Given the description of an element on the screen output the (x, y) to click on. 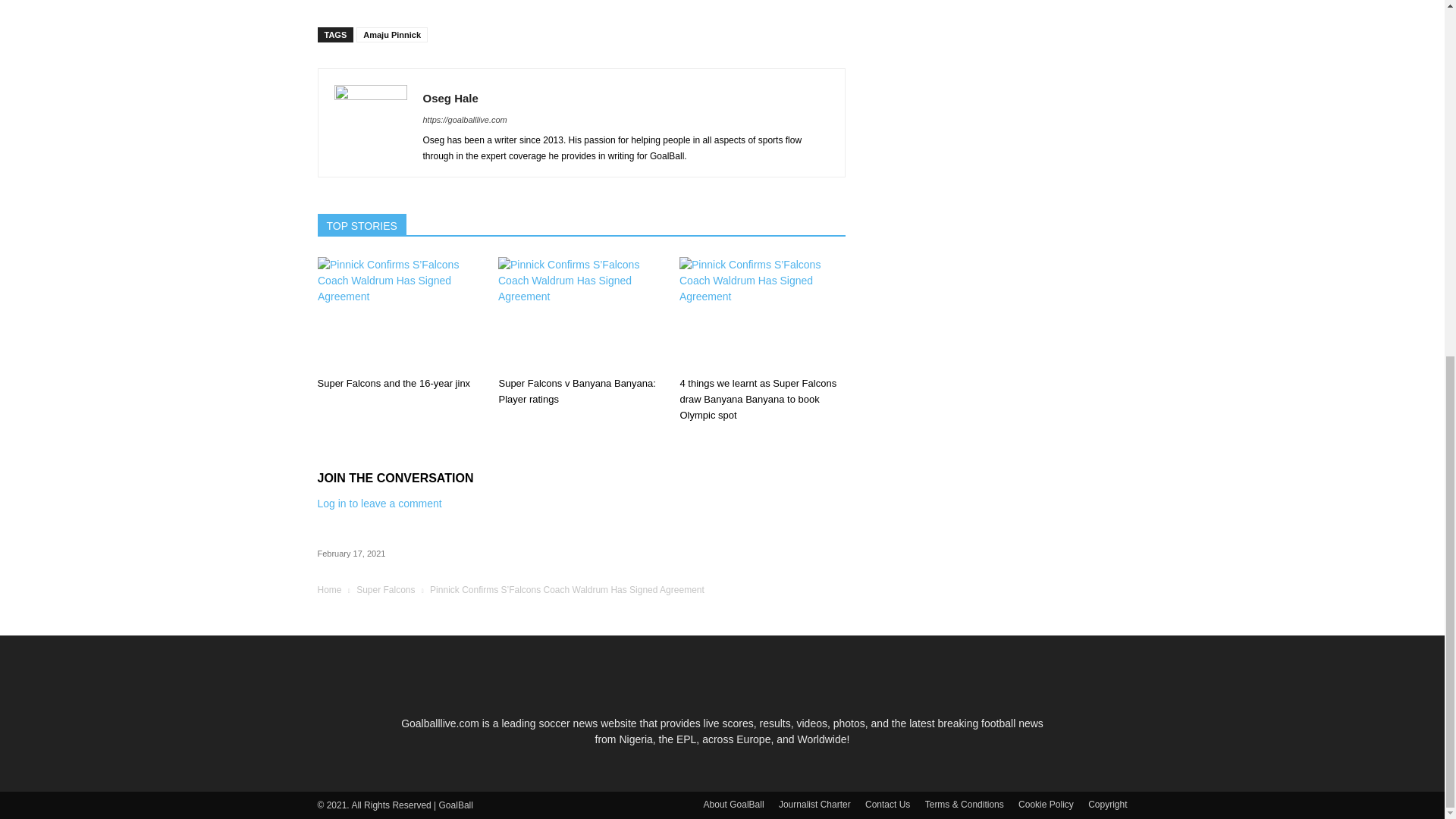
Super Falcons and the 16-year jinx (393, 383)
Super Falcons v Banyana Banyana: Player ratings (580, 314)
Super Falcons and the 16-year jinx (399, 314)
Super Falcons v Banyana Banyana: Player ratings (576, 390)
